Given the description of an element on the screen output the (x, y) to click on. 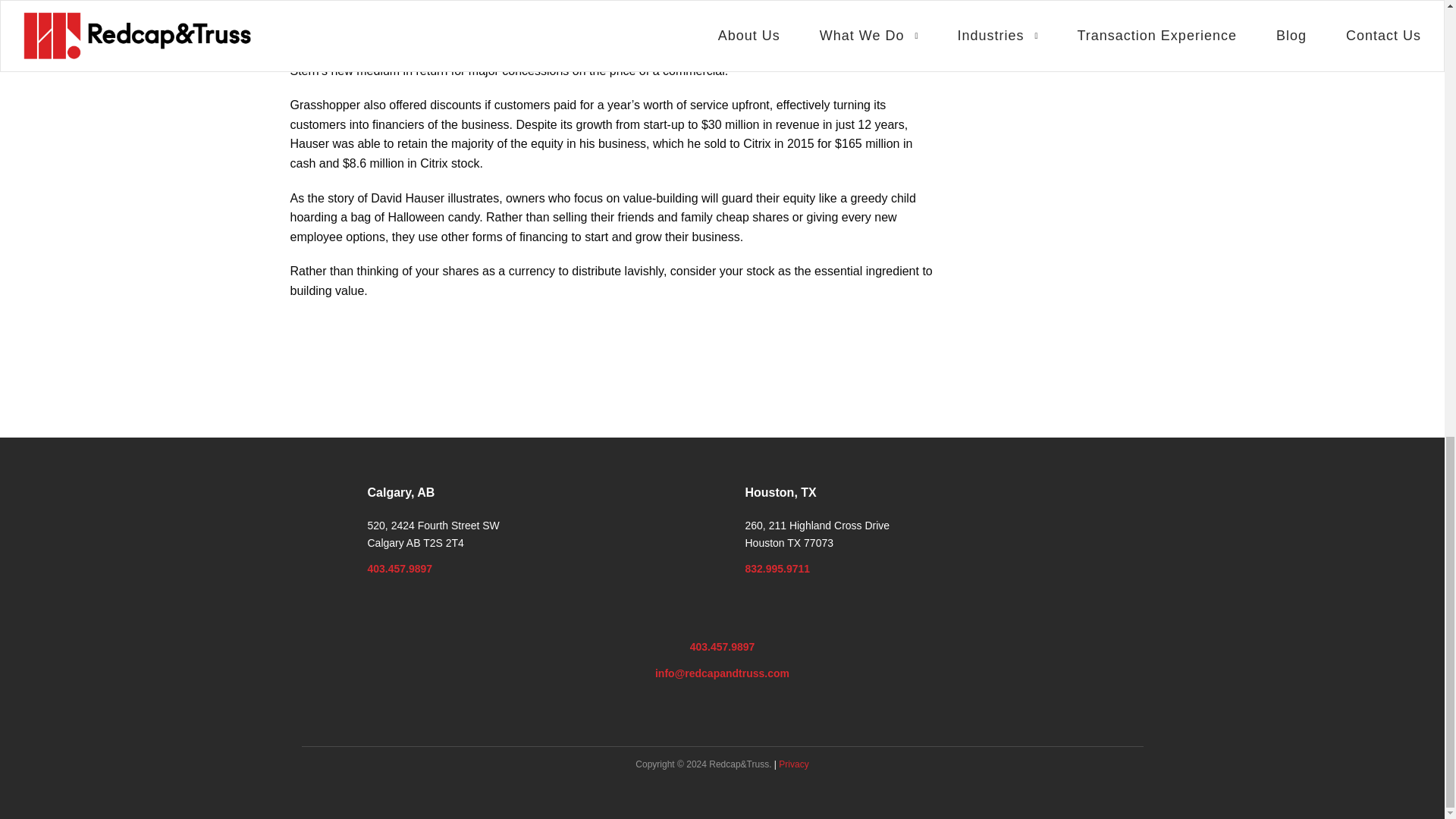
403.457.9897 (399, 568)
Calgary, AB (399, 492)
Houston, TX (779, 492)
Privacy (793, 764)
403.457.9897 (722, 646)
832.995.9711 (776, 568)
